Given the description of an element on the screen output the (x, y) to click on. 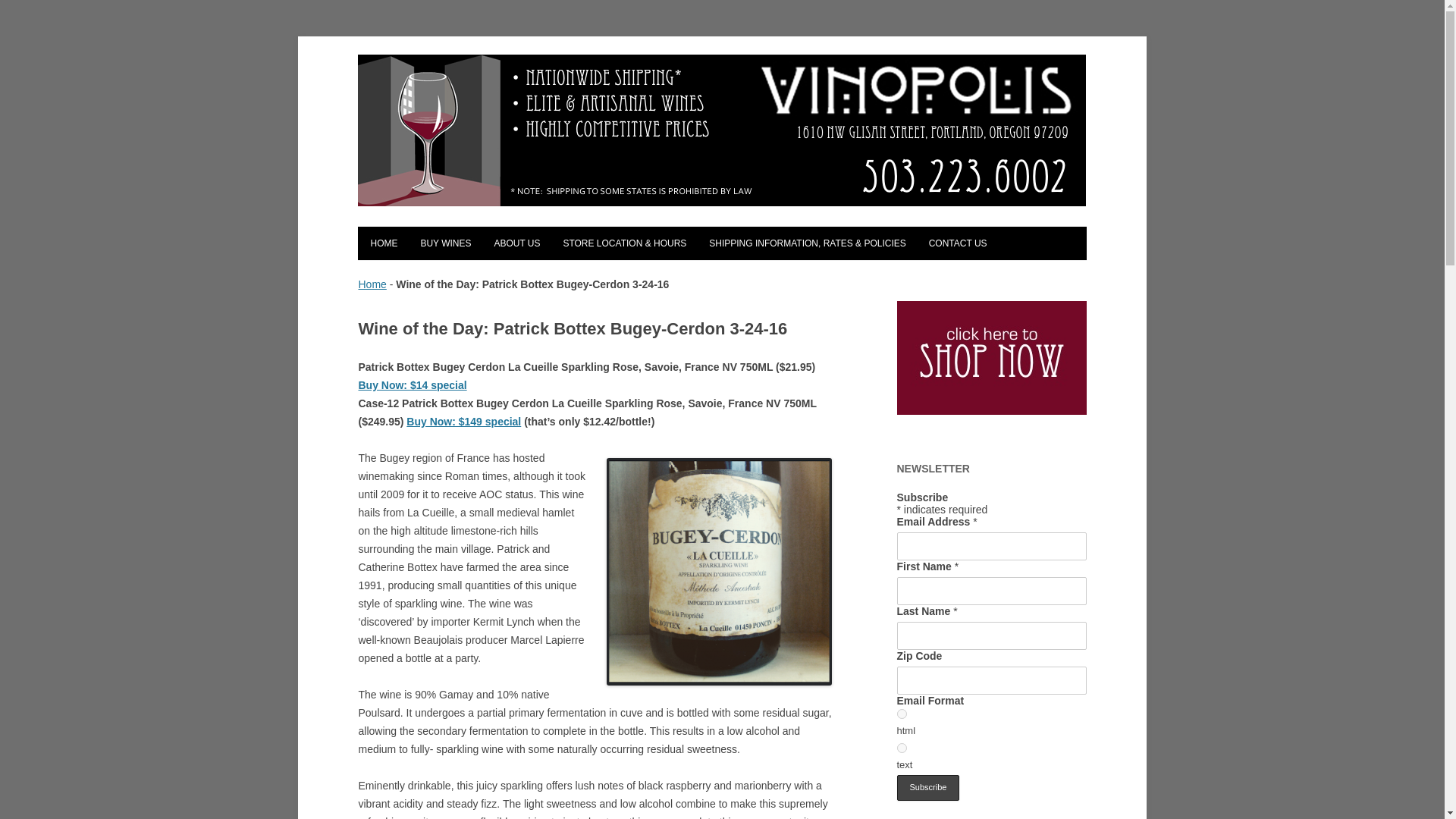
Skip to content (757, 231)
Vinopolis Wine Shop (441, 65)
text (900, 747)
Home (371, 284)
html (900, 714)
Subscribe (927, 787)
ABOUT US (516, 243)
CONTACT US (957, 243)
BUY WINES (445, 243)
Skip to content (757, 231)
Vinopolis Wine Shop (441, 65)
Subscribe (927, 787)
HOME (383, 243)
